Given the description of an element on the screen output the (x, y) to click on. 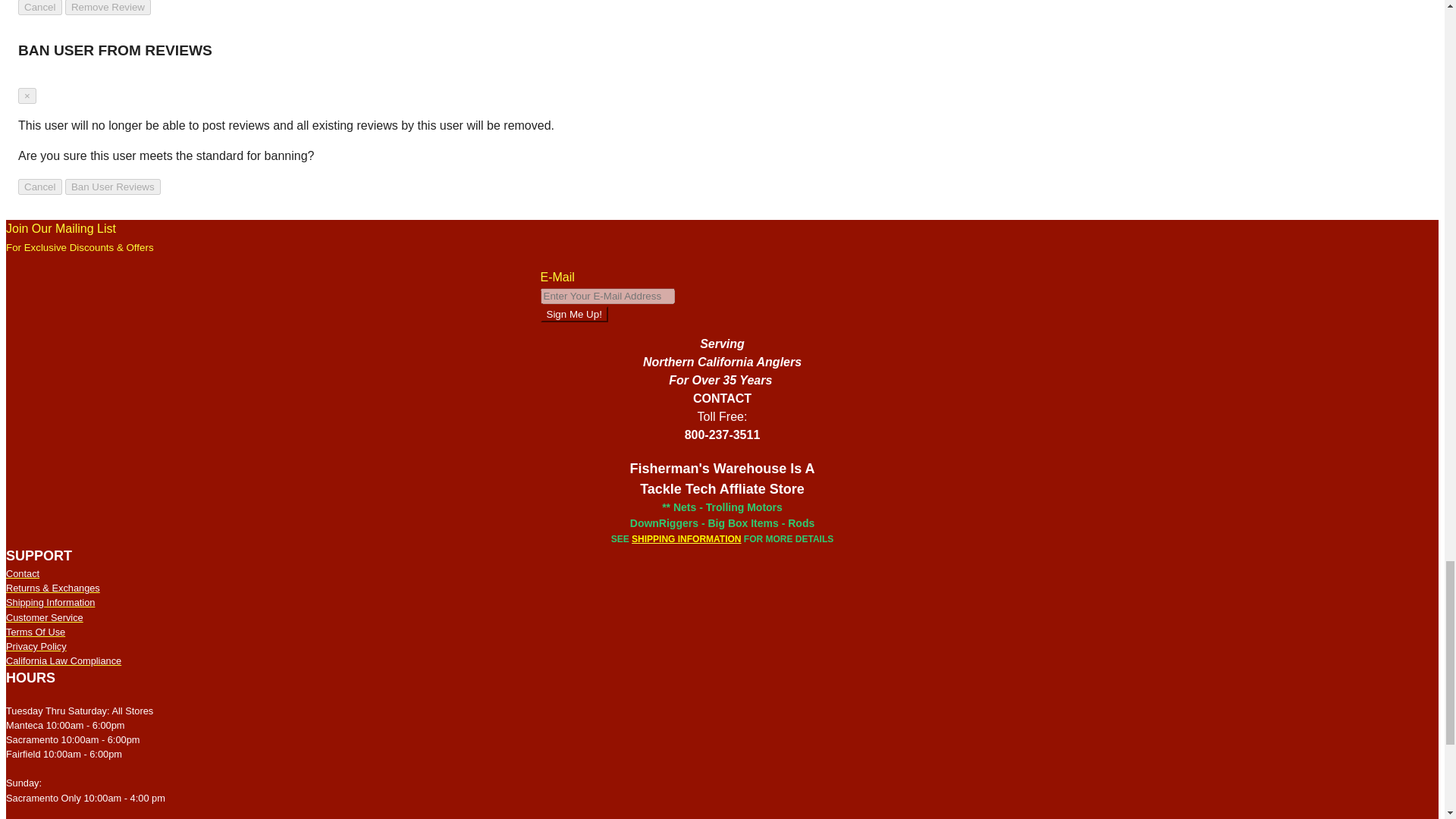
Sign Me Up! (573, 314)
